Given the description of an element on the screen output the (x, y) to click on. 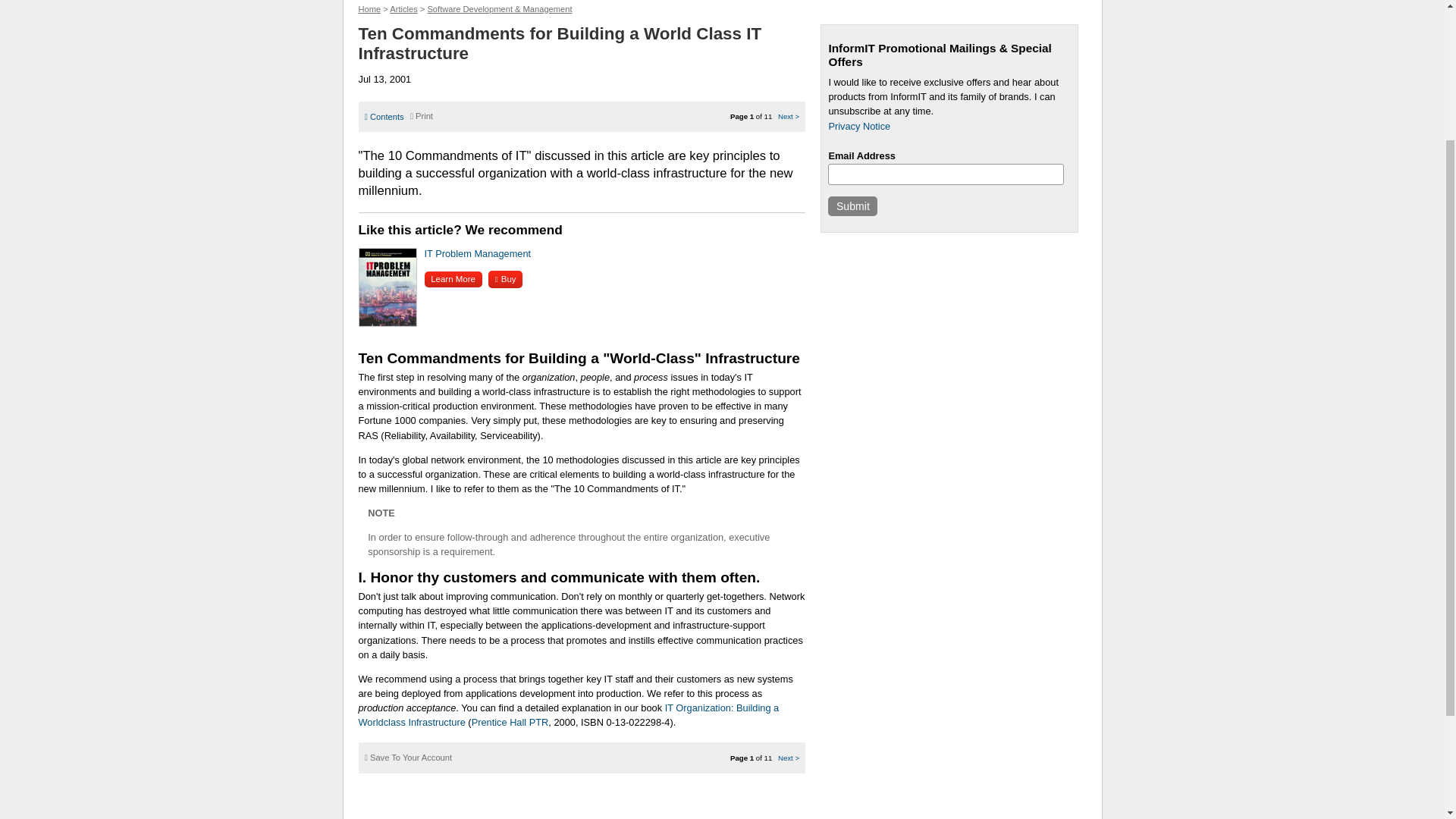
IT Problem Management (478, 253)
Articles (403, 8)
Privacy Notice (858, 125)
IT Organization: Building a Worldclass Infrastructure (569, 714)
Print (421, 115)
Prentice Hall PTR (509, 722)
Submit (852, 206)
Submit (852, 206)
Learn More (453, 279)
Home (369, 8)
